Given the description of an element on the screen output the (x, y) to click on. 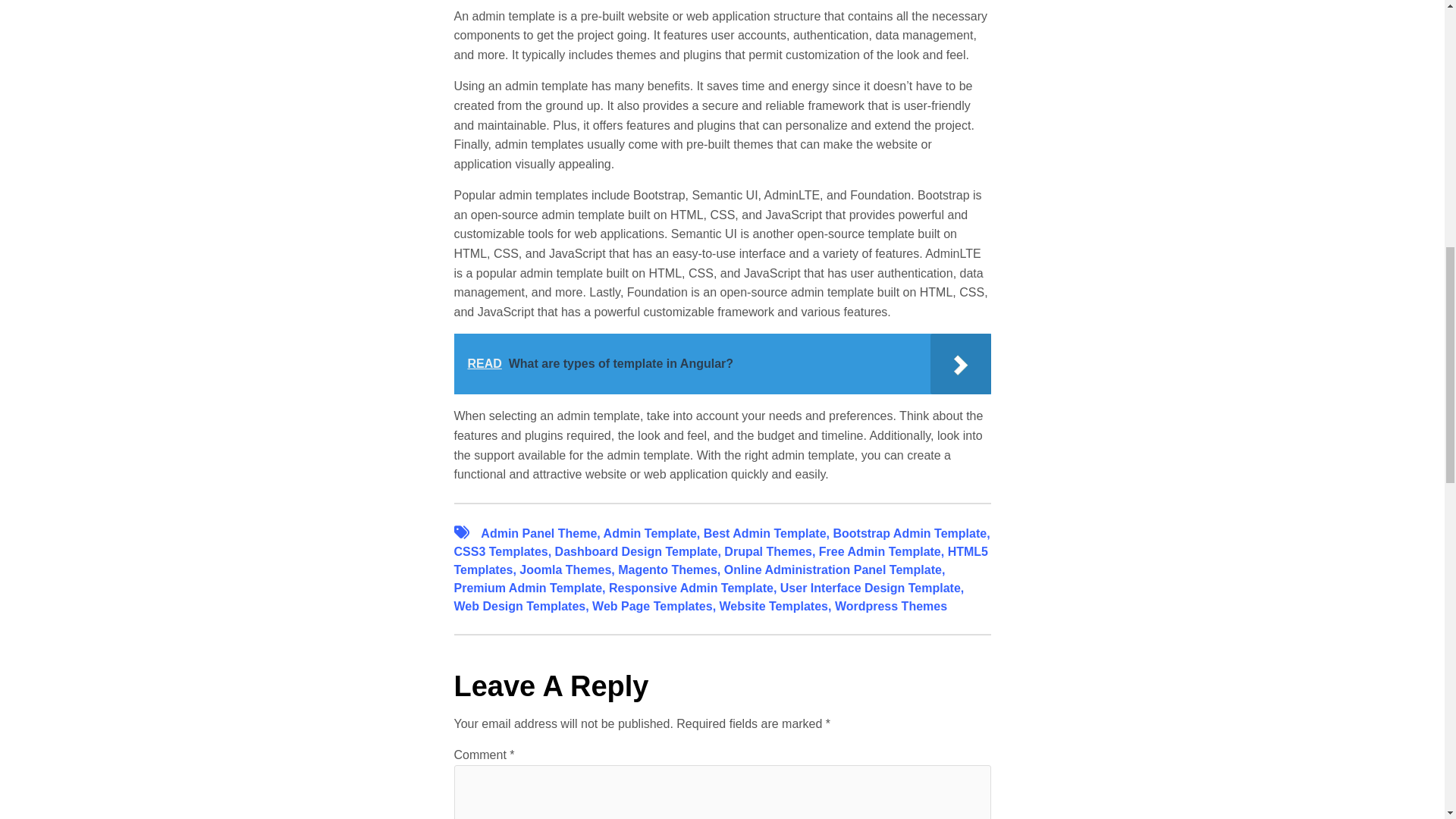
Web Page Templates (652, 605)
Responsive Admin Template (690, 587)
Joomla Themes (565, 569)
Dashboard Design Template (635, 551)
HTML5 Templates (719, 560)
Magento Themes (667, 569)
Premium Admin Template (527, 587)
Admin Panel Theme (538, 533)
Wordpress Themes (890, 605)
CSS3 Templates (499, 551)
